Given the description of an element on the screen output the (x, y) to click on. 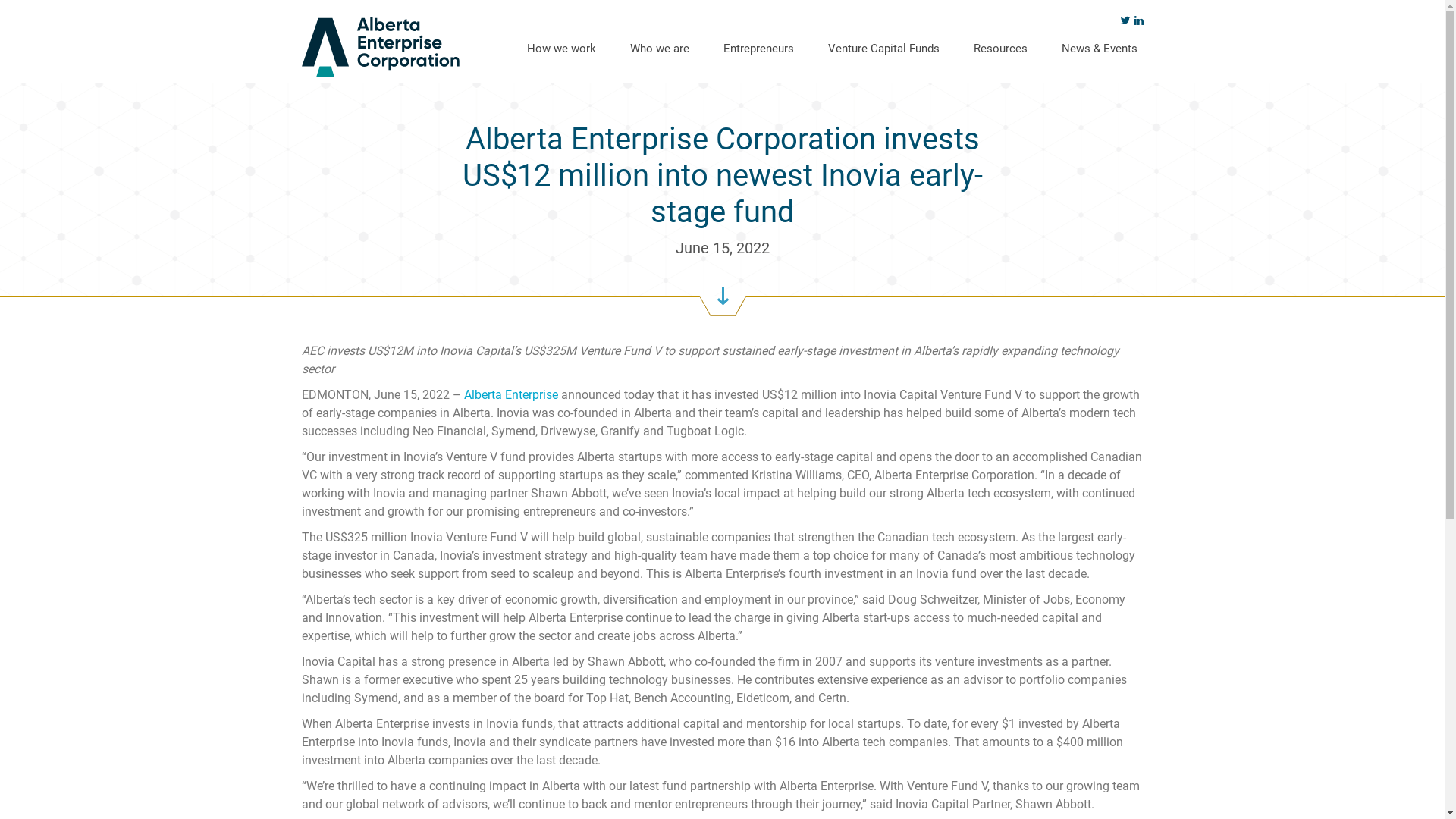
Who we are Element type: text (658, 47)
Resources Element type: text (1000, 47)
Alberta Enterprise Element type: text (511, 394)
Venture Capital Funds Element type: text (883, 47)
How we work Element type: text (560, 47)
News & Events Element type: text (1099, 47)
Entrepreneurs Element type: text (758, 47)
